Given the description of an element on the screen output the (x, y) to click on. 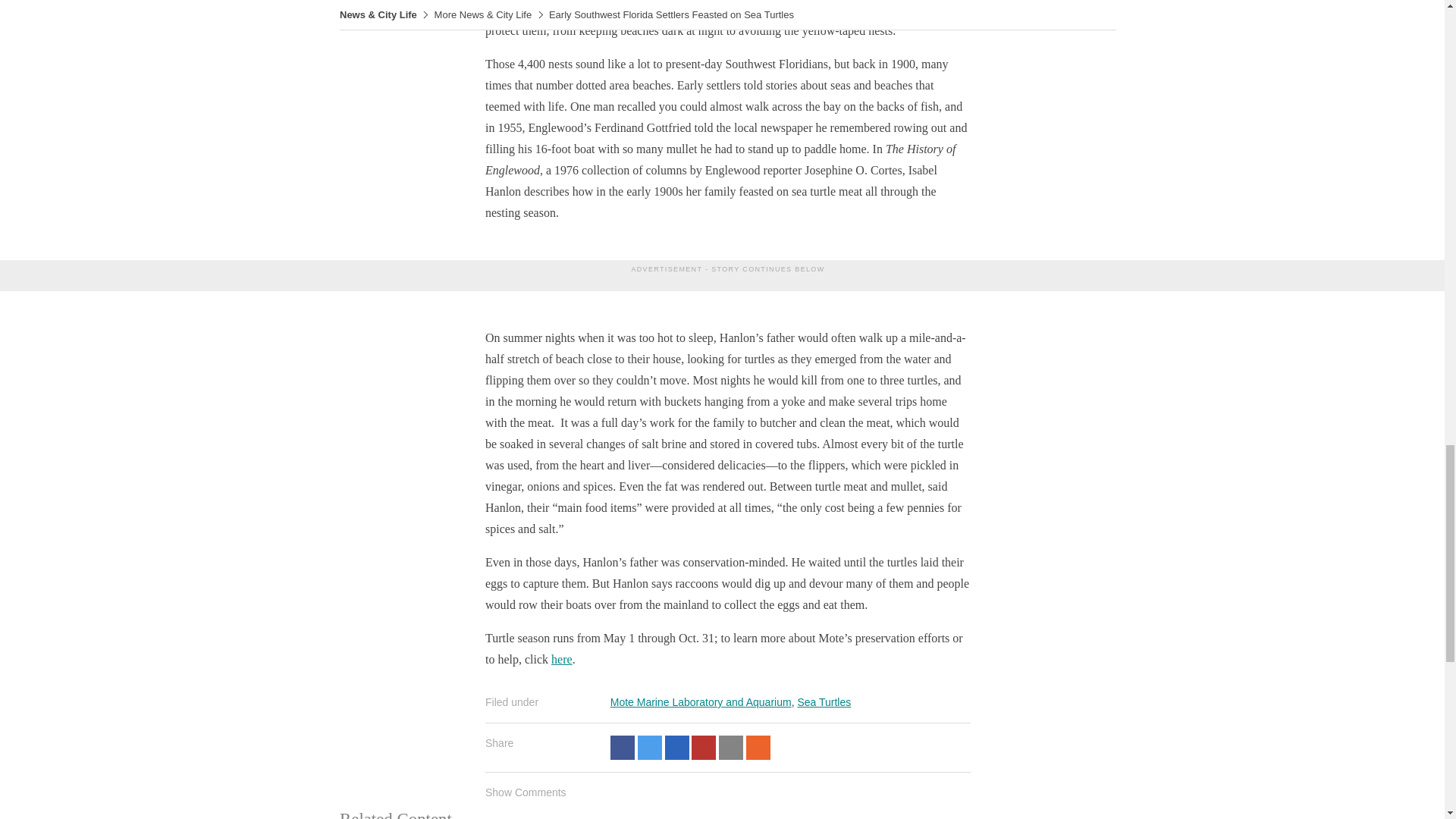
Share on Facebook (622, 747)
Share on Twitter (649, 747)
Share via Email (730, 747)
Share on LinkedIn (675, 747)
Share on Pinterest (703, 747)
Share on Reddit (757, 747)
